Given the description of an element on the screen output the (x, y) to click on. 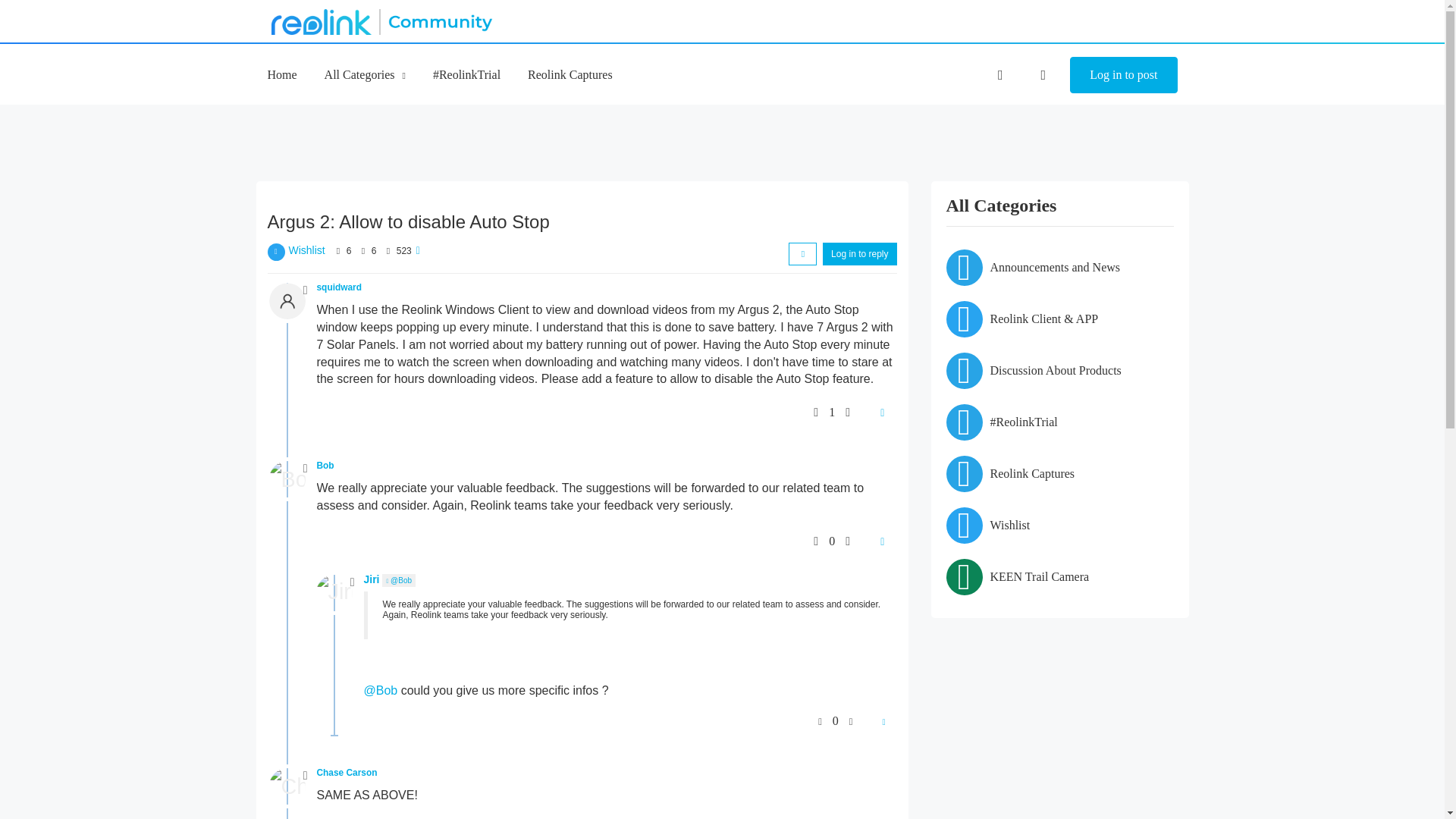
Wishlist (306, 250)
Views (387, 250)
Posts (362, 250)
Log in to post (1123, 75)
Log in to reply (859, 253)
Sort by (802, 253)
523 (404, 250)
All Categories (365, 74)
Posters (338, 250)
squidward (339, 286)
Reolink Captures (569, 74)
Home (281, 74)
